Given the description of an element on the screen output the (x, y) to click on. 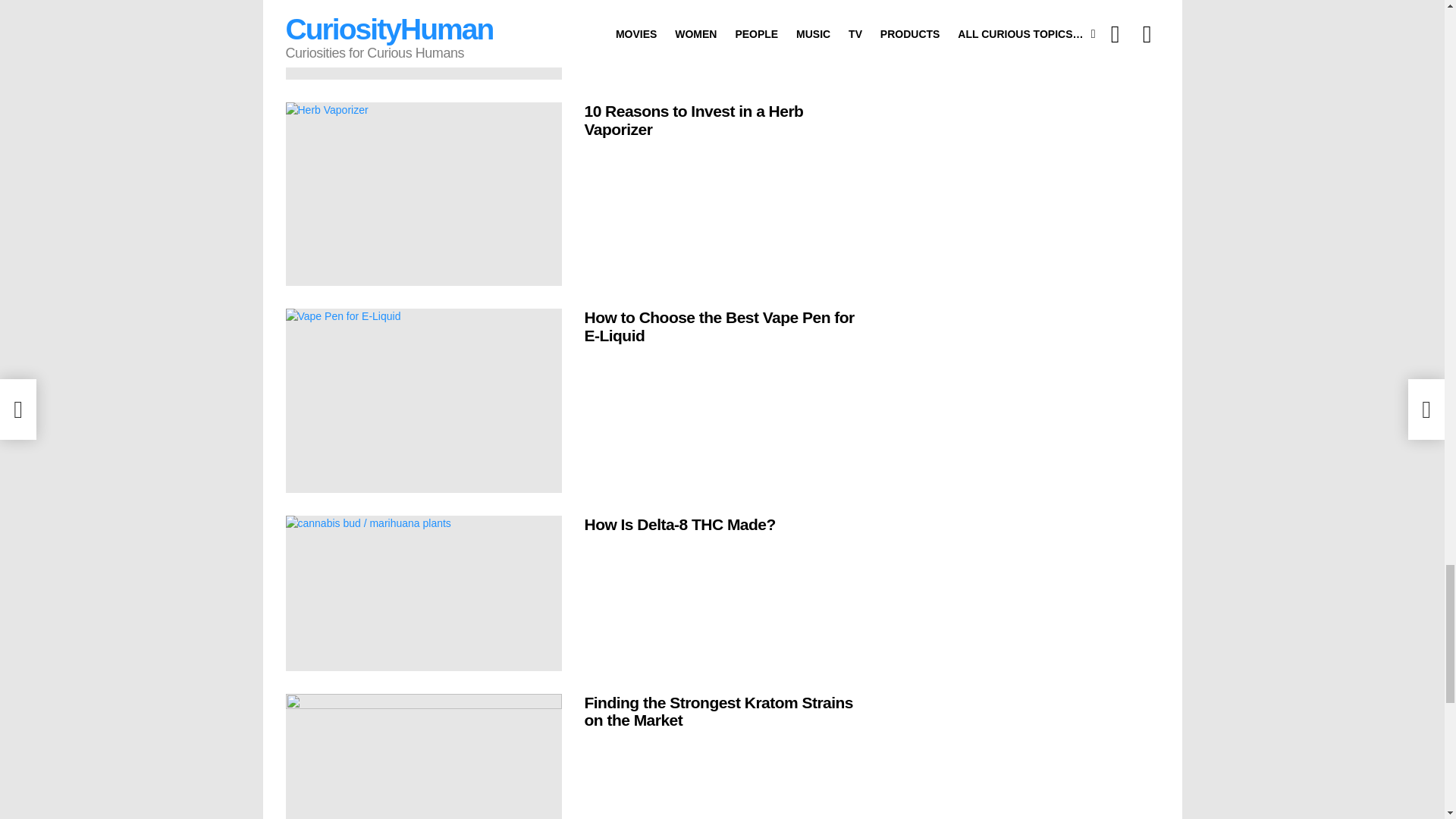
How Is Delta-8 THC Made? (422, 592)
10 Reasons to Invest in a Herb Vaporizer (422, 193)
Finding the Strongest Kratom Strains on the Market (422, 756)
How Addictive is Nicotine? 3 Things You Should Know (422, 39)
How to Choose the Best Vape Pen for E-Liquid (422, 400)
